Given the description of an element on the screen output the (x, y) to click on. 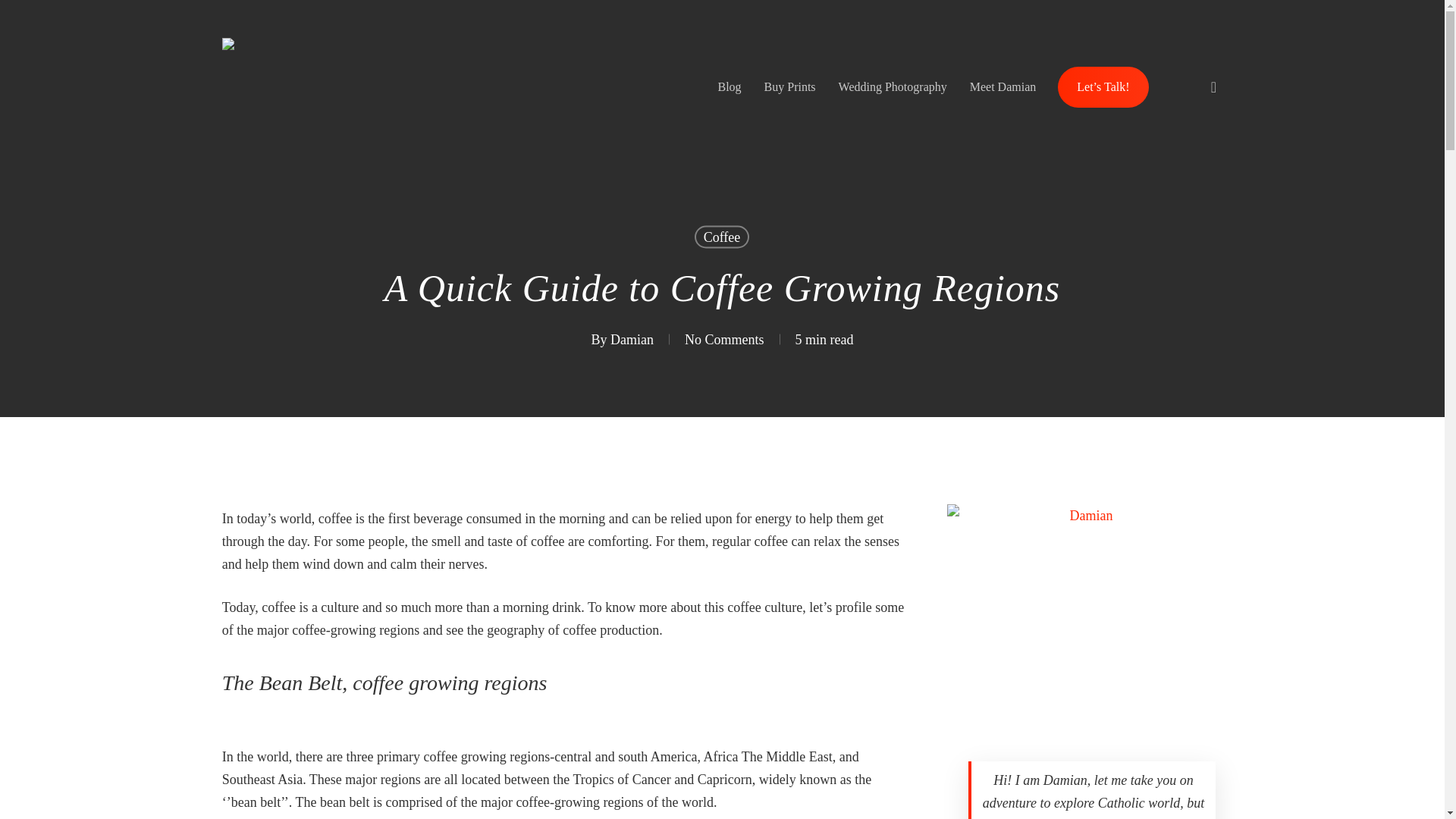
Meet Damian (1003, 86)
Damian (631, 339)
No Comments (724, 339)
Posts by Damian (631, 339)
Buy Prints (789, 86)
Wedding Photography (892, 86)
Coffee (721, 237)
Blog (729, 86)
search (1213, 86)
